Given the description of an element on the screen output the (x, y) to click on. 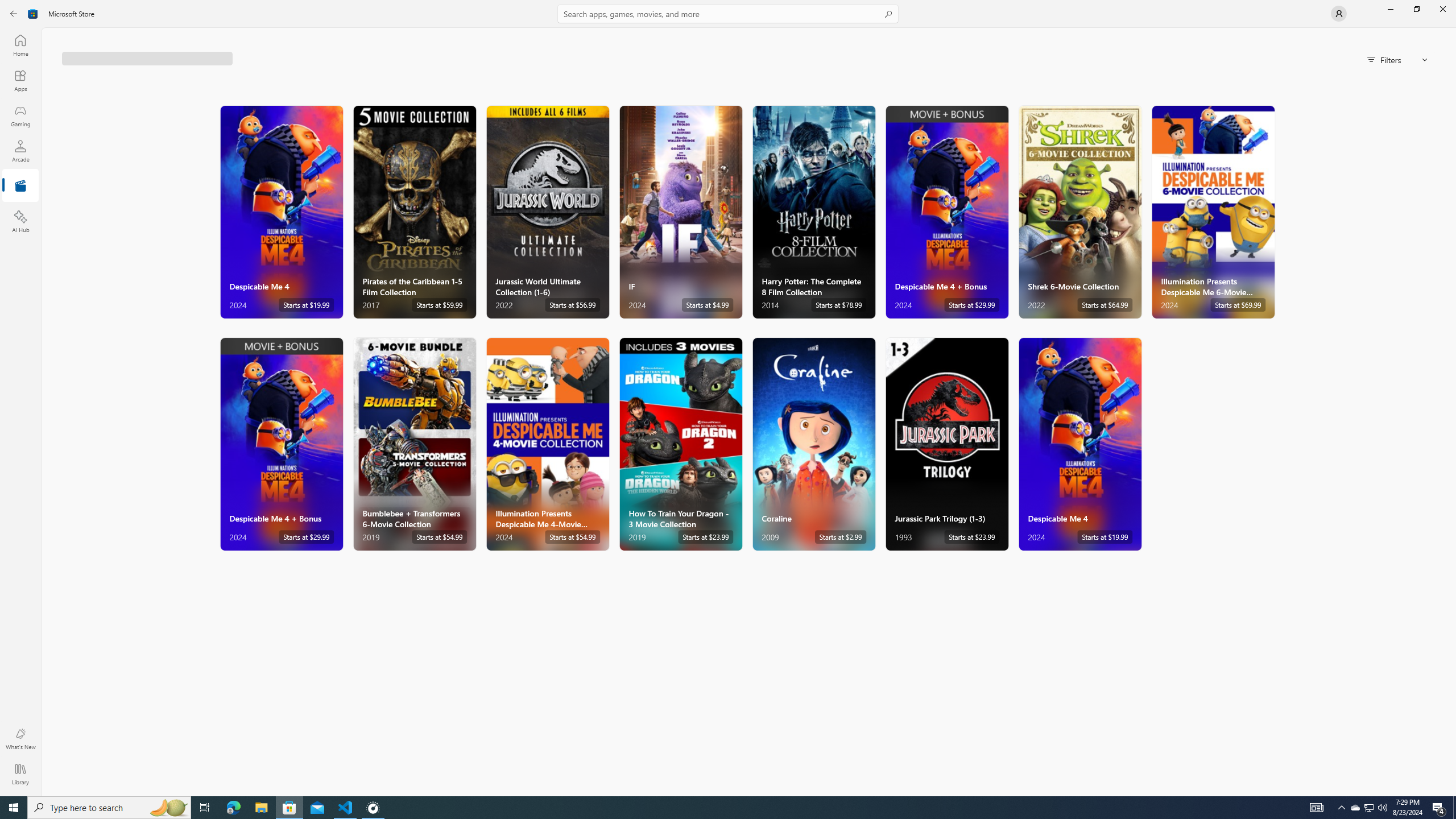
Library (20, 773)
Vertical Small Decrease (1452, 31)
